Given the description of an element on the screen output the (x, y) to click on. 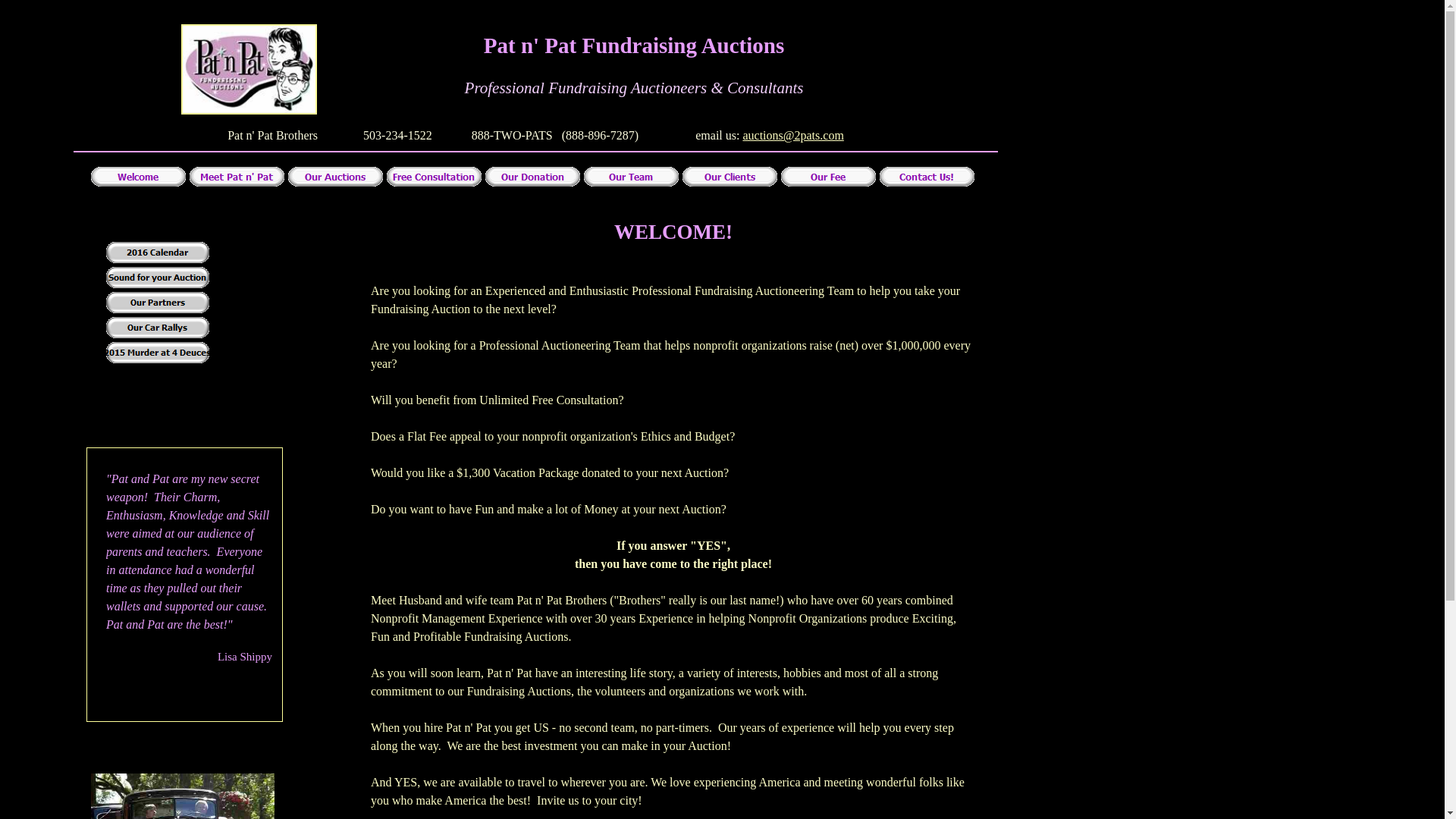
auctions@2pats.com Element type: text (792, 134)
